Given the description of an element on the screen output the (x, y) to click on. 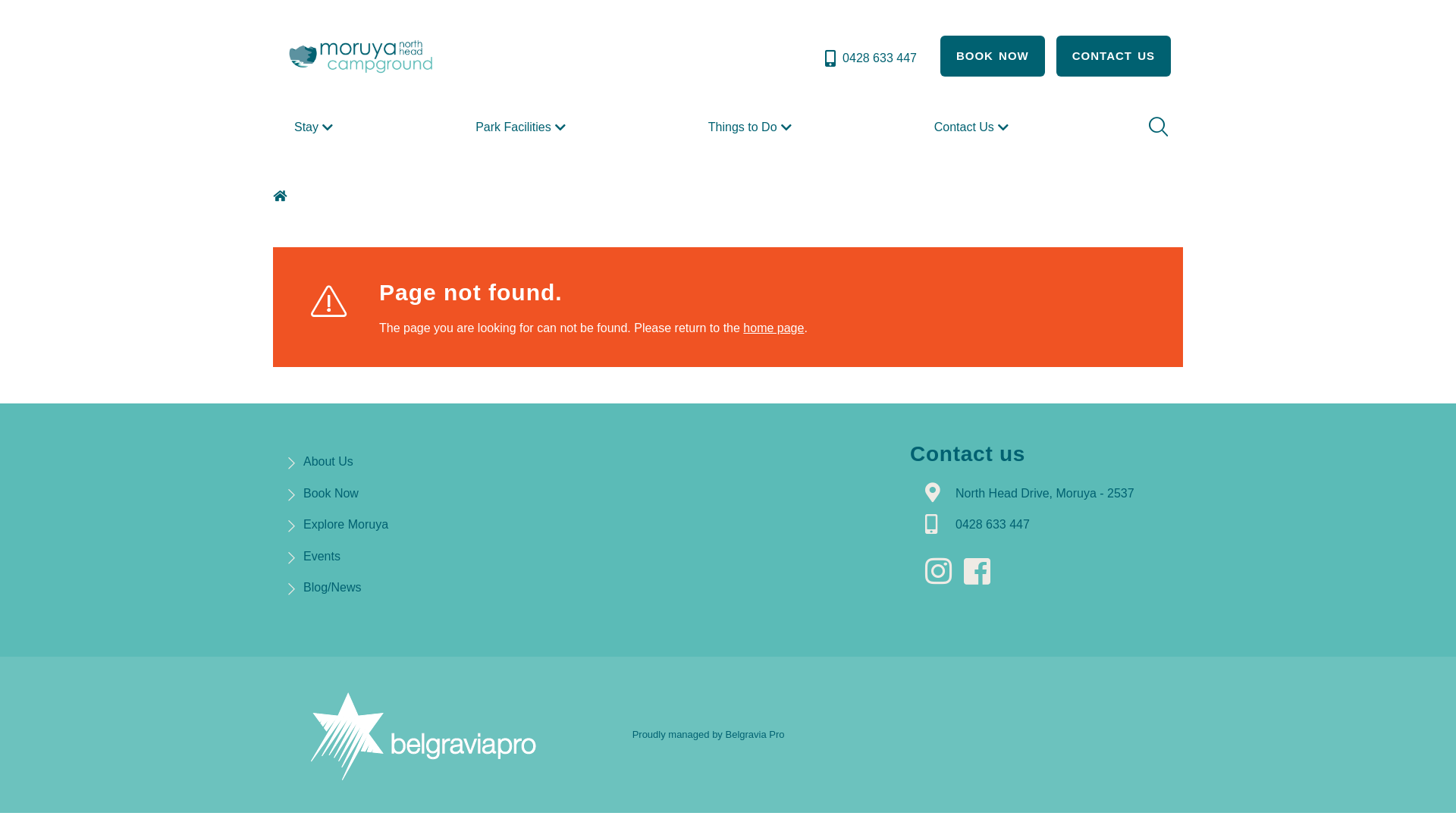
home page Element type: text (773, 327)
Stay Element type: text (315, 127)
Contact Us Element type: text (973, 127)
Proudly managed by Belgravia Pro Element type: text (708, 734)
Events Element type: text (321, 555)
Park Facilities Element type: text (522, 127)
  Element type: text (942, 571)
0428 633 447 Element type: text (992, 523)
Search Element type: text (1156, 127)
  Element type: text (282, 195)
CONTACT US Element type: text (1113, 55)
Book Now Element type: text (330, 492)
BOOK NOW Element type: text (992, 55)
Explore Moruya Element type: text (345, 523)
Things to Do Element type: text (751, 127)
0428 633 447 Element type: text (869, 58)
  Element type: text (980, 571)
About Us Element type: text (328, 461)
Blog/News Element type: text (331, 586)
